Given the description of an element on the screen output the (x, y) to click on. 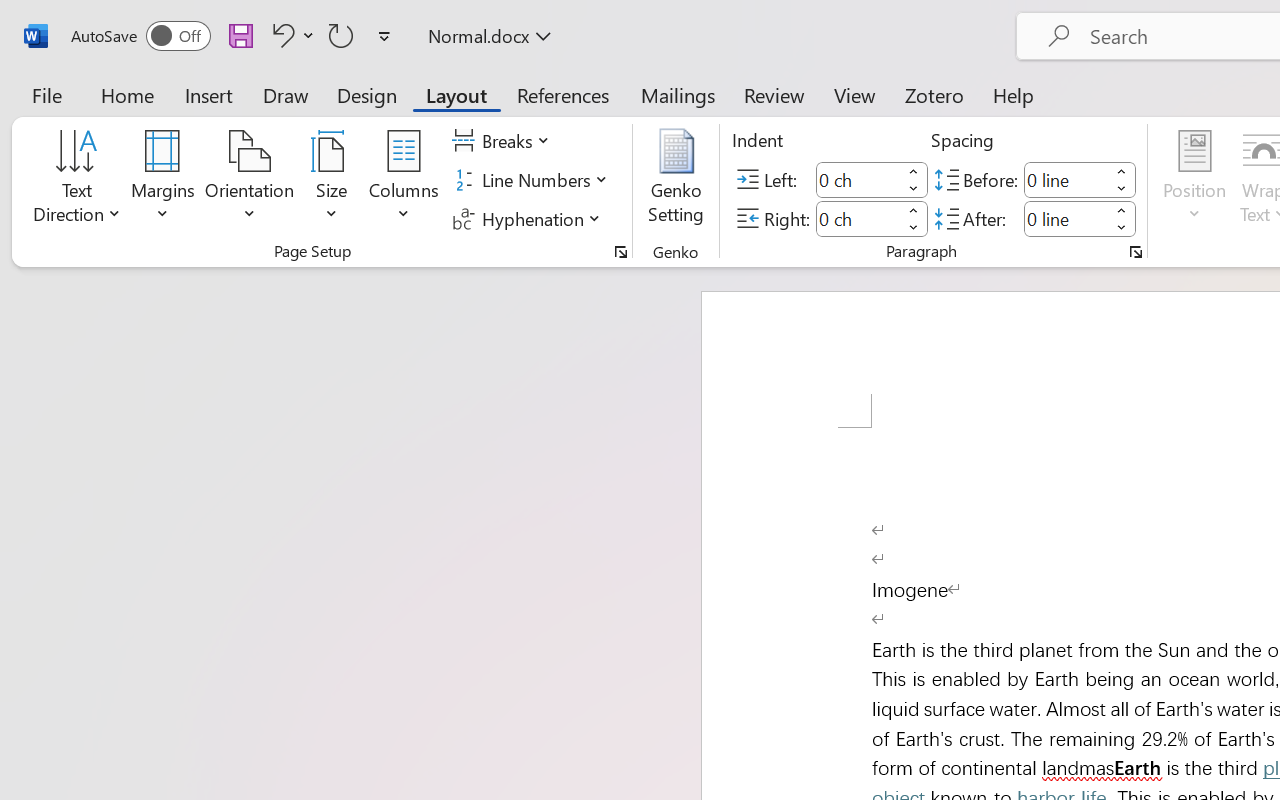
Orientation (250, 179)
Indent Left (858, 179)
Spacing After (1066, 218)
Page Setup... (621, 252)
Spacing Before (1066, 179)
Size (331, 179)
Indent Right (858, 218)
Position (1194, 179)
Less (1121, 227)
